Given the description of an element on the screen output the (x, y) to click on. 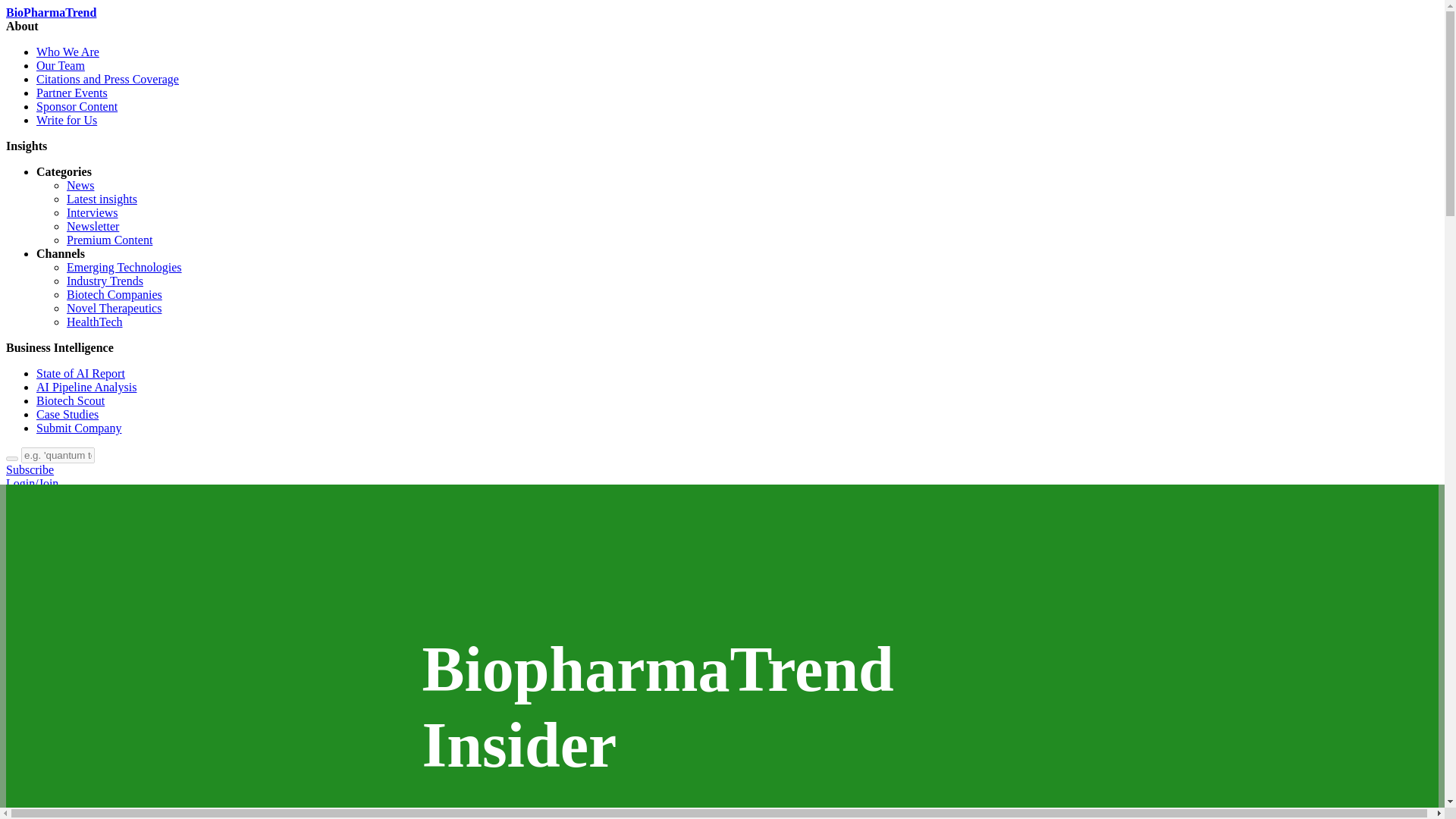
Emerging Technologies (124, 267)
Sponsor Content (76, 106)
Novel Therapeutics (113, 308)
Case Studies (67, 413)
News (80, 185)
HealthTech (94, 321)
BioPharmaTrend (50, 11)
AI Pipeline Analysis (86, 386)
Interviews (91, 212)
Premium Content (109, 239)
Biotech Companies (113, 294)
Industry Trends (104, 280)
Our Team (60, 65)
Submit Company (78, 427)
Biotech Scout (70, 400)
